Given the description of an element on the screen output the (x, y) to click on. 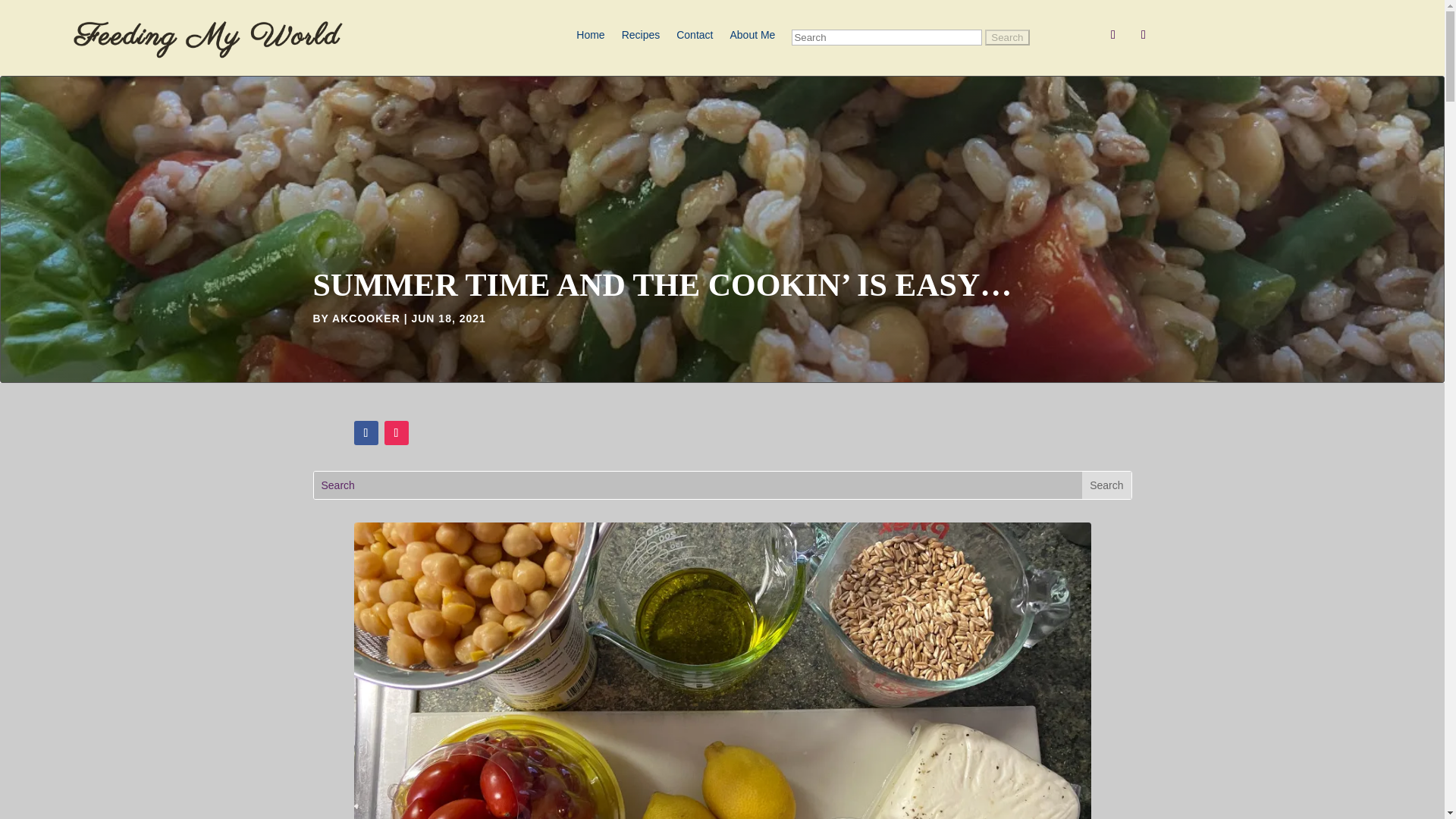
Search (1007, 37)
Home (590, 40)
Search (1106, 484)
Recipes (641, 40)
Follow on Instagram (1143, 34)
Posts by akcooker (365, 318)
AKCOOKER (365, 318)
Follow on Facebook (1112, 34)
Search for: (910, 40)
Search (1007, 37)
Follow on Instagram (395, 432)
Follow on Facebook (365, 432)
FMW-Logo (207, 37)
Search (1007, 37)
Search (1106, 484)
